Given the description of an element on the screen output the (x, y) to click on. 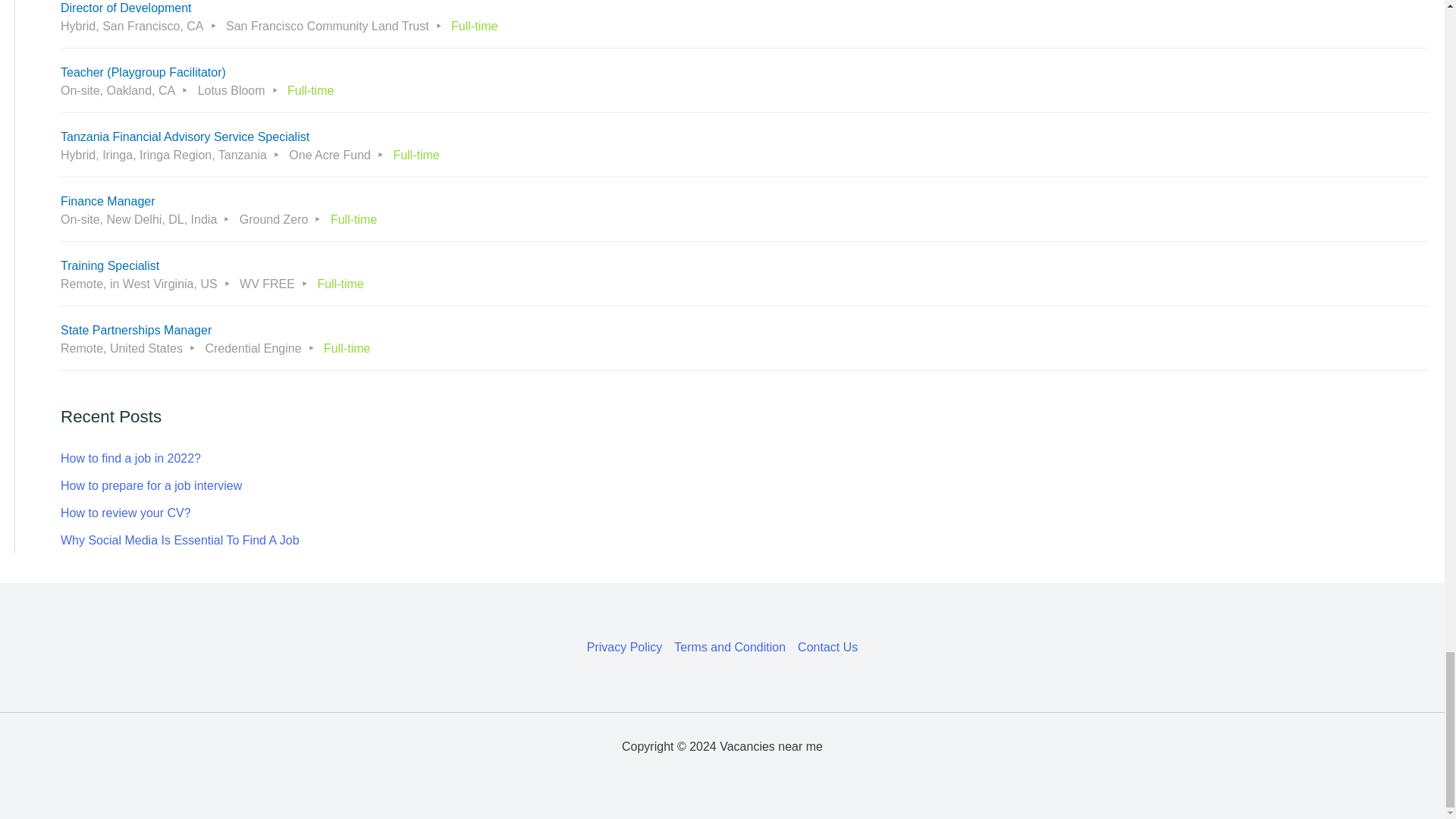
How to find a job in 2022? (130, 458)
Contact Us (824, 647)
Terms and Condition (730, 647)
How to prepare for a job interview (151, 485)
How to review your CV? (125, 512)
Why Social Media Is Essential To Find A Job (180, 540)
Privacy Policy (627, 647)
